Given the description of an element on the screen output the (x, y) to click on. 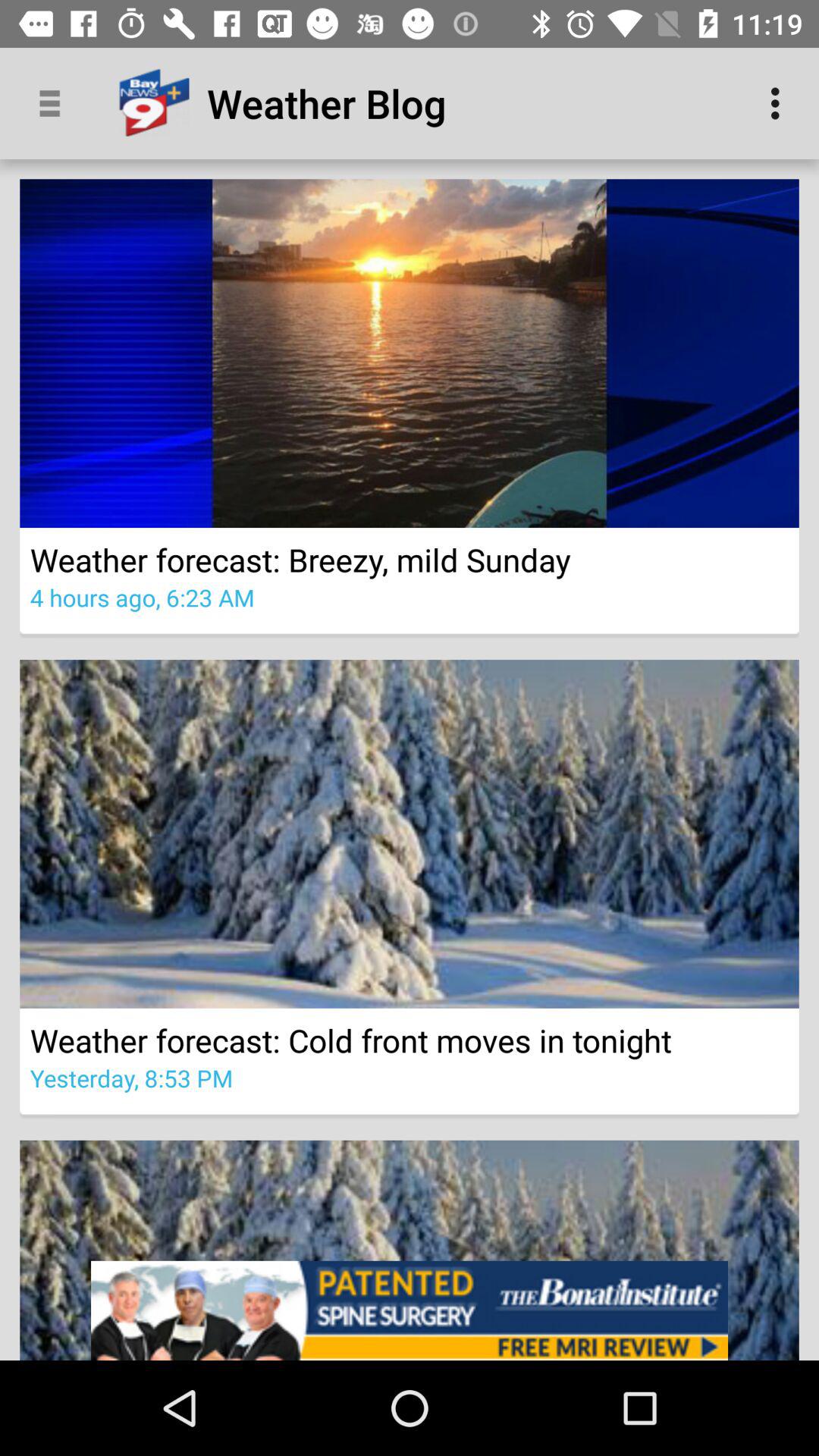
advertisement (409, 1310)
